Given the description of an element on the screen output the (x, y) to click on. 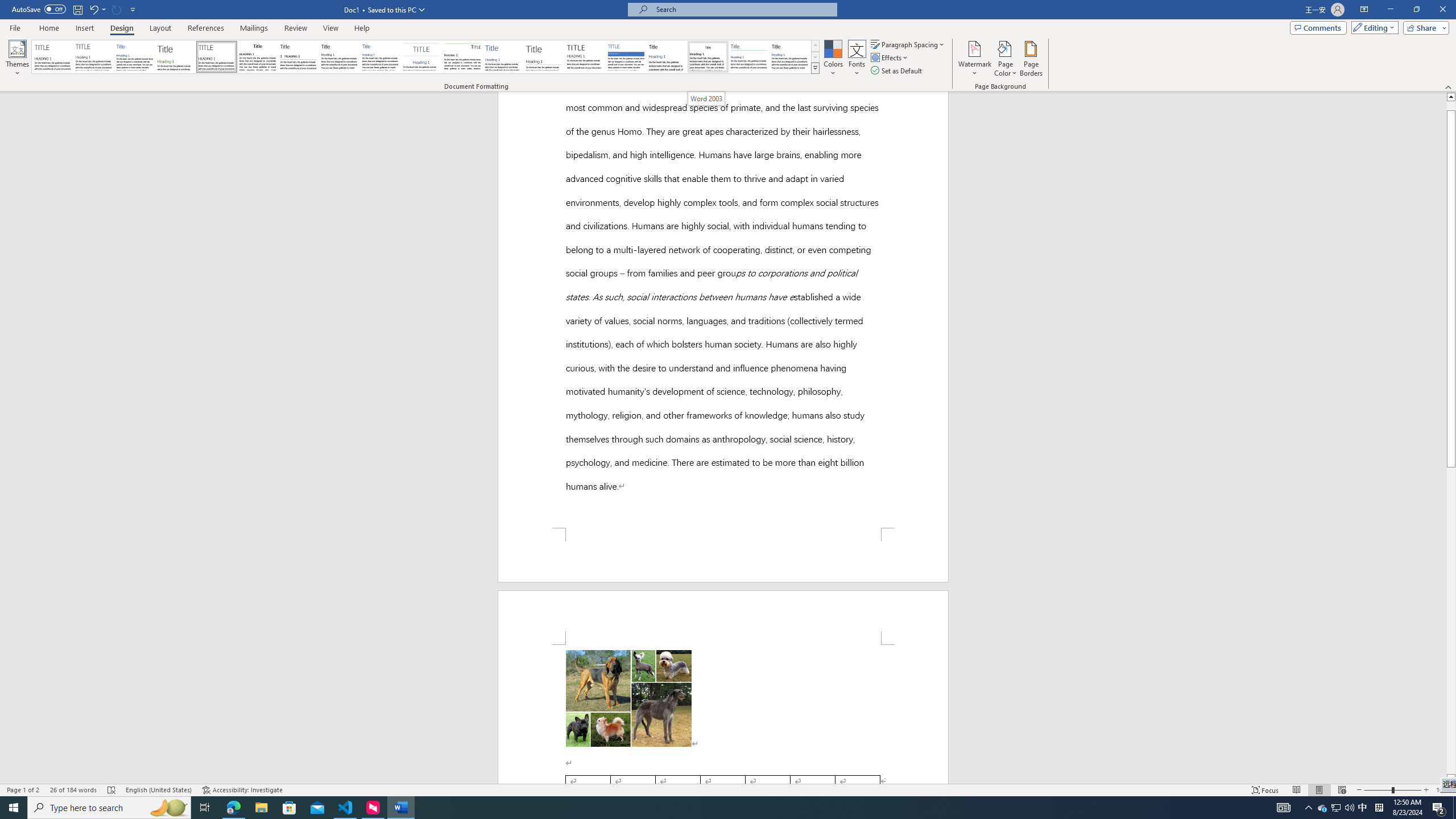
Word 2010 (749, 56)
Page 1 content (723, 402)
Black & White (Classic) (257, 56)
Casual (379, 56)
